Given the description of an element on the screen output the (x, y) to click on. 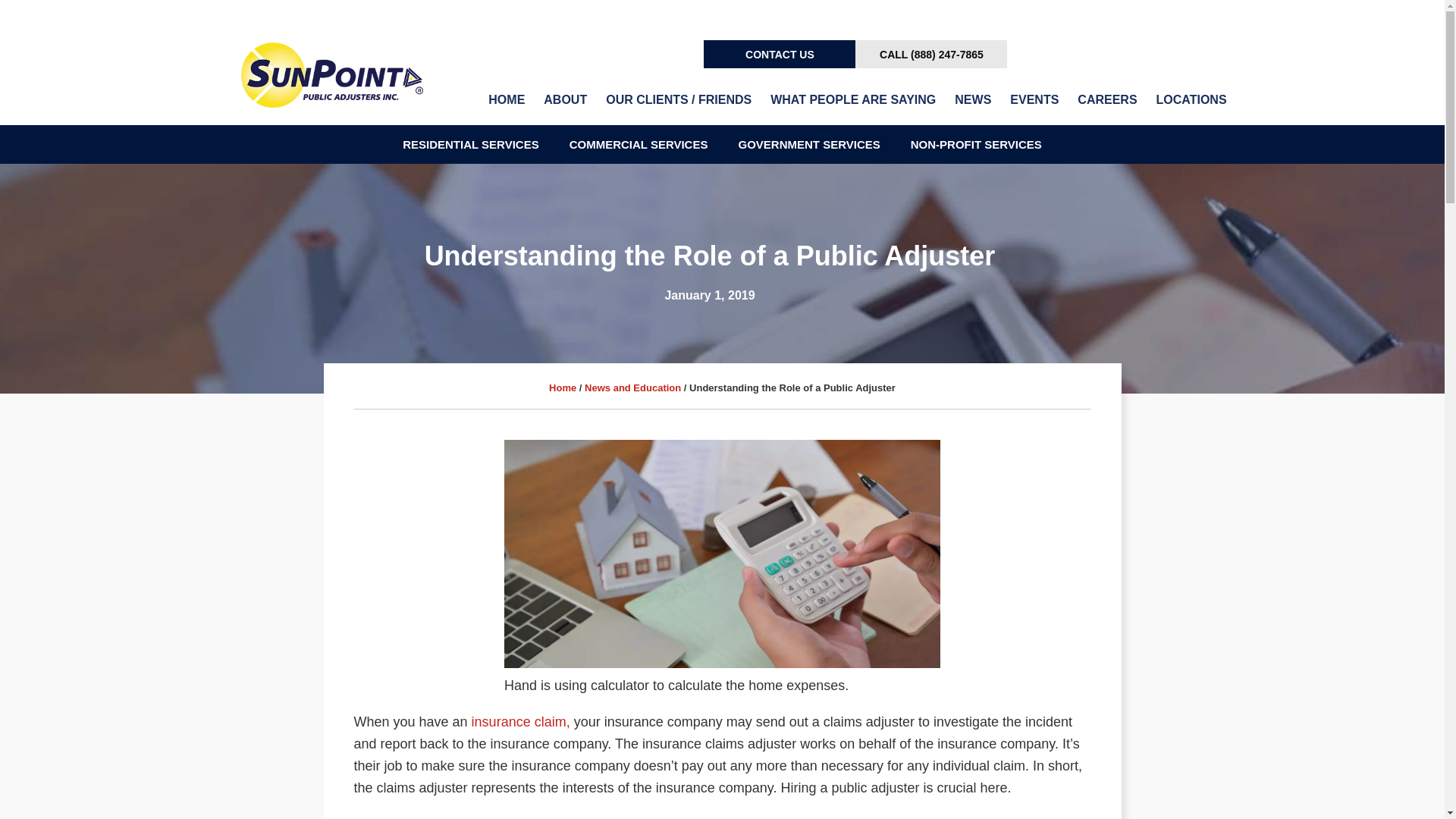
CAREERS (1105, 99)
insurance claim, (518, 721)
EVENTS (1032, 99)
CONTACT US (779, 53)
NEWS (970, 99)
ABOUT (563, 99)
HOME (504, 99)
WHAT PEOPLE ARE SAYING (850, 99)
News and Education (633, 387)
